Given the description of an element on the screen output the (x, y) to click on. 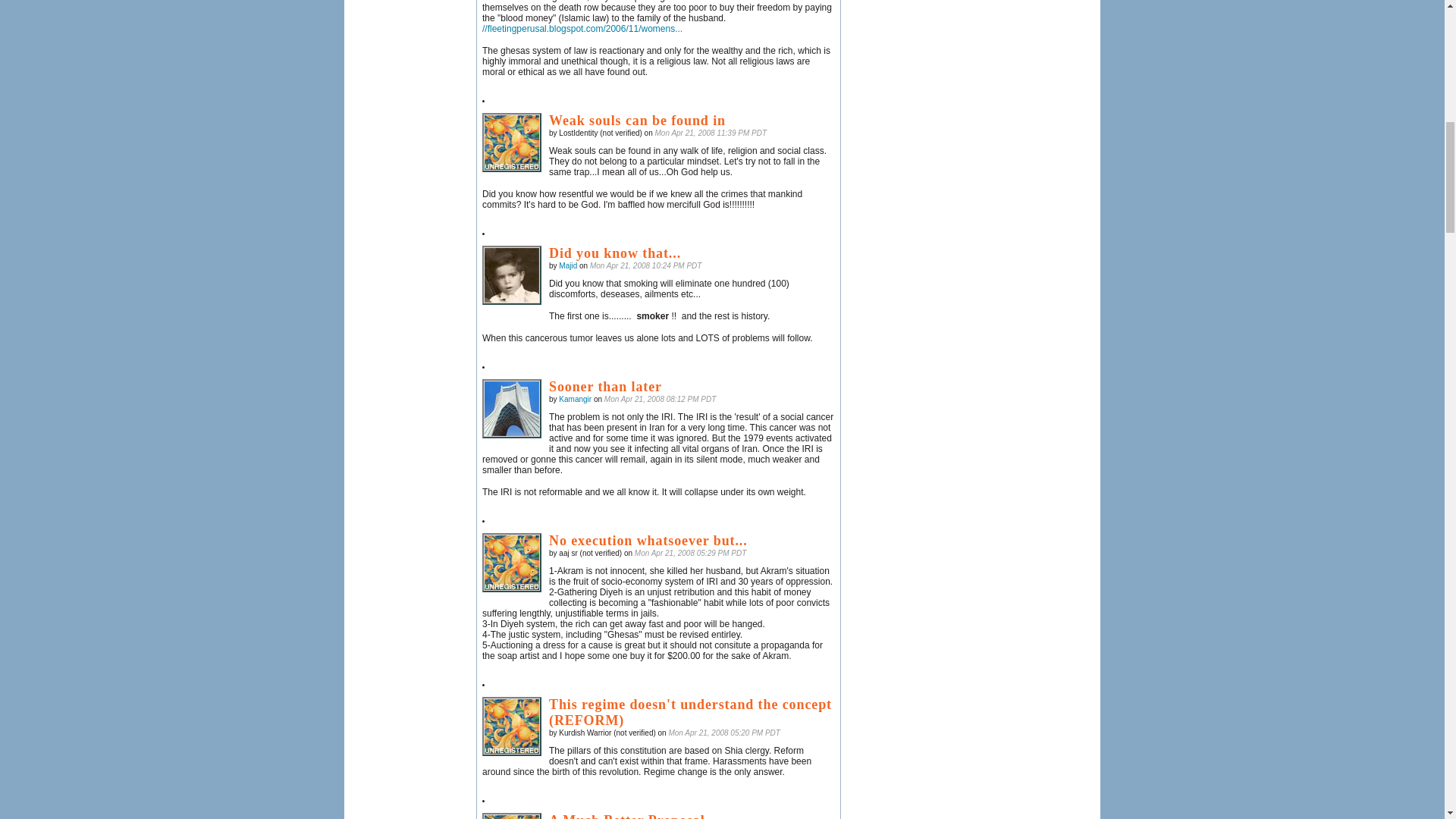
View user profile. (567, 265)
default (511, 725)
View user profile. (575, 398)
default (511, 816)
default (511, 408)
default (511, 562)
default (511, 142)
Majid (511, 274)
